Given the description of an element on the screen output the (x, y) to click on. 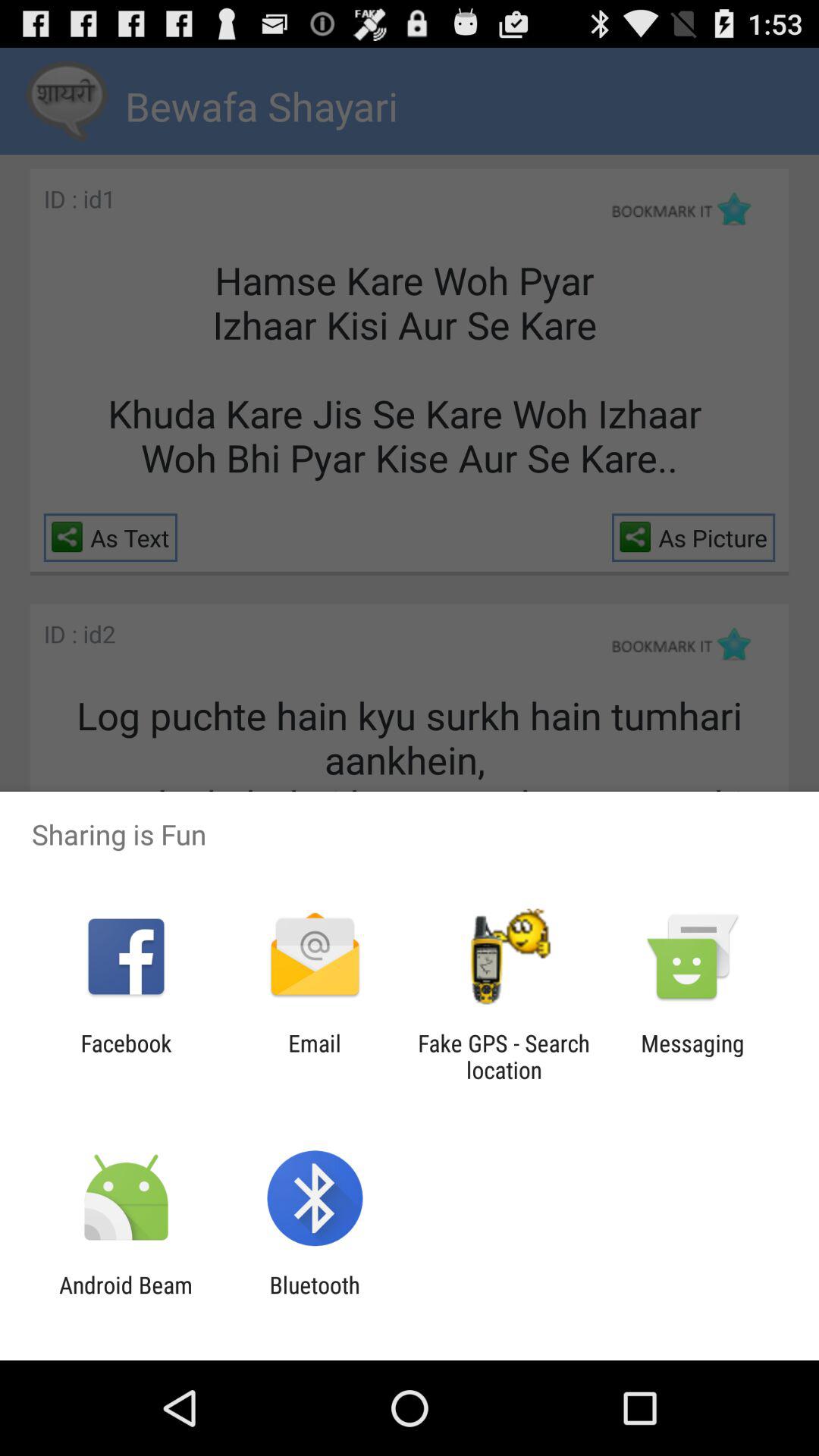
select the app next to the email app (503, 1056)
